Given the description of an element on the screen output the (x, y) to click on. 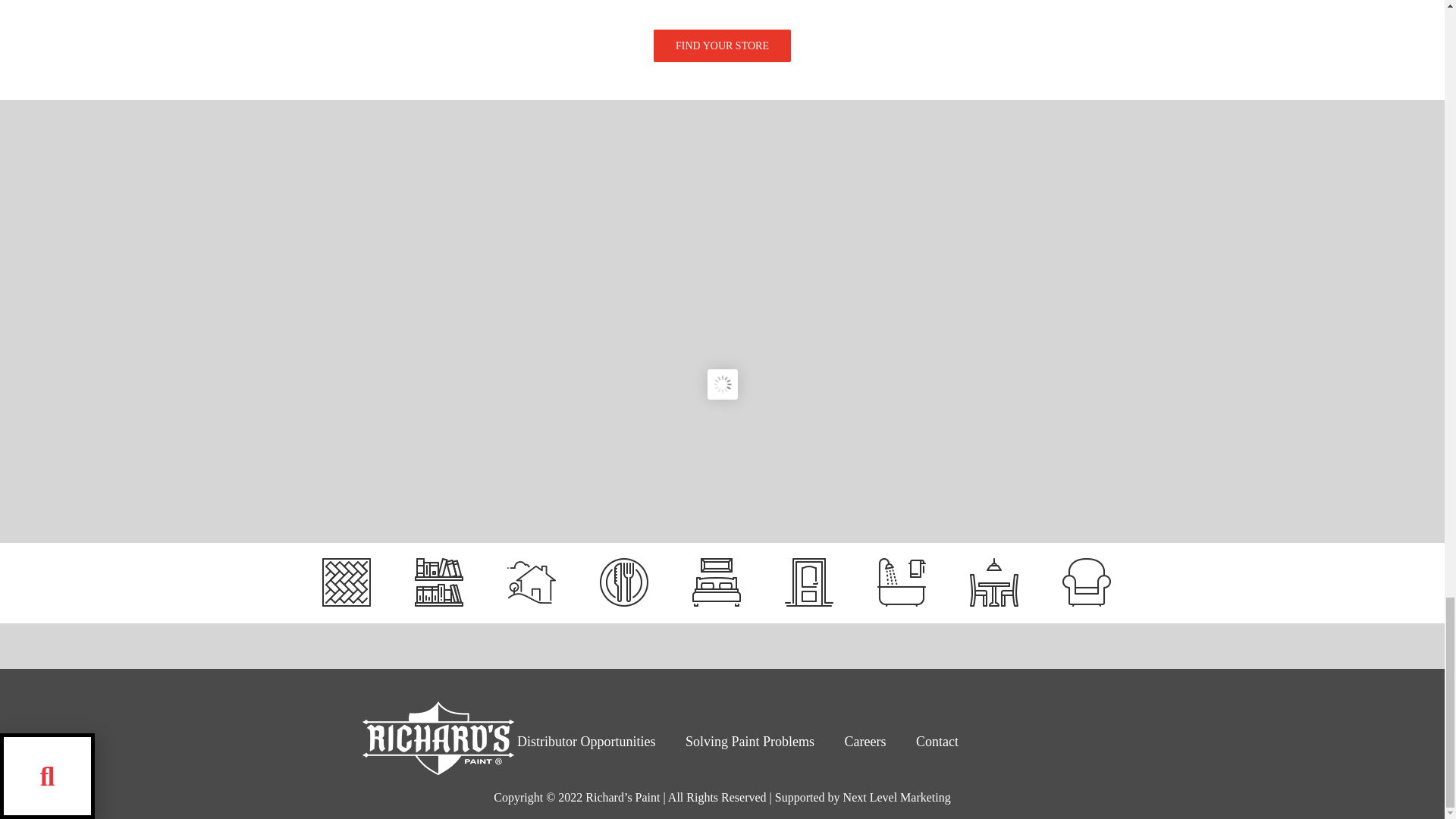
Entryway (808, 581)
FIND YOUR STORE (722, 52)
Kitchen (623, 581)
Bedroom (717, 581)
Family Room (1086, 581)
Bathroom (901, 581)
Home Exterior (531, 581)
Office Paint (438, 581)
Dining Room (993, 581)
Deck Paint (346, 581)
